Given the description of an element on the screen output the (x, y) to click on. 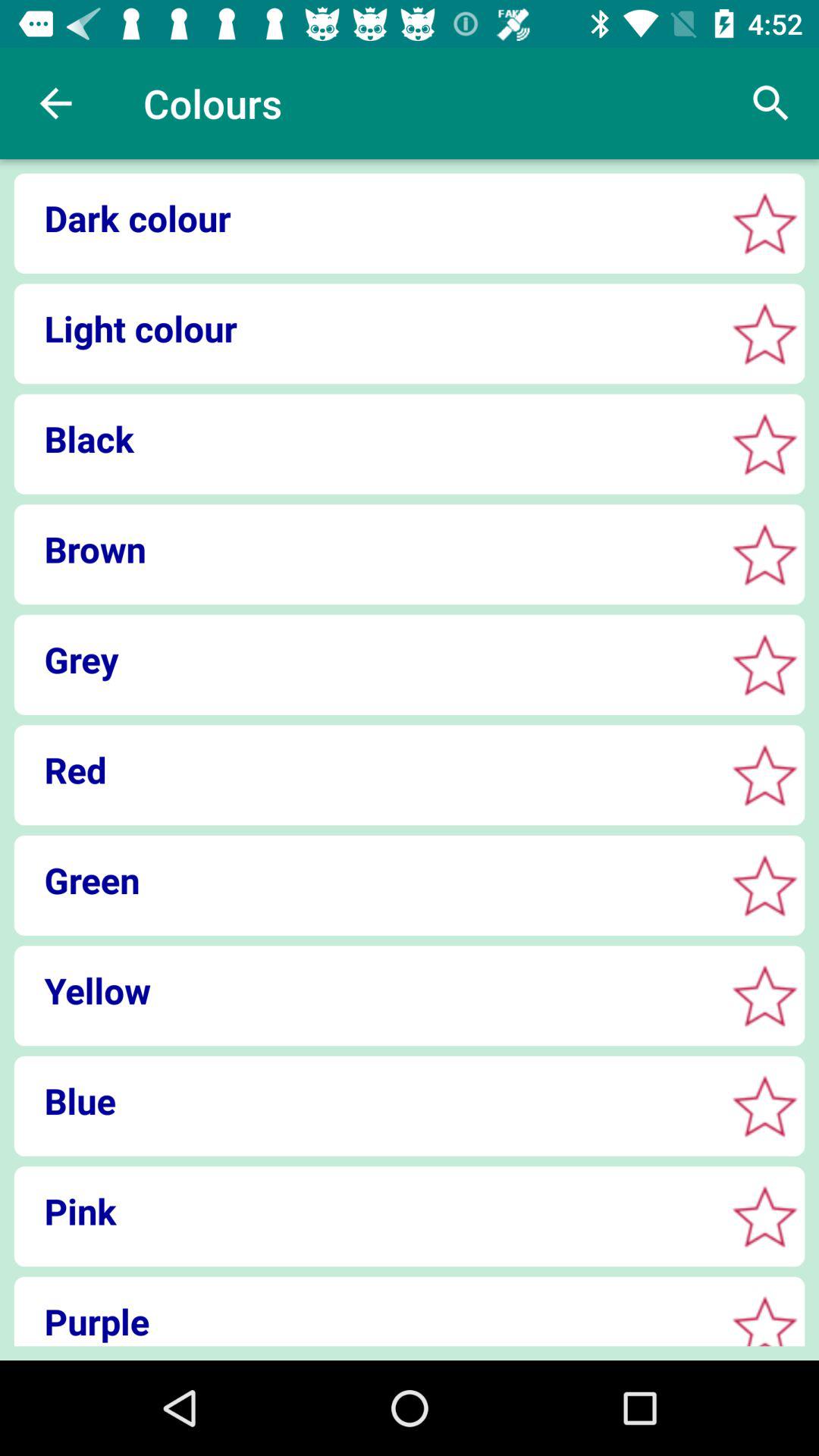
the star is used to select the option (764, 554)
